Given the description of an element on the screen output the (x, y) to click on. 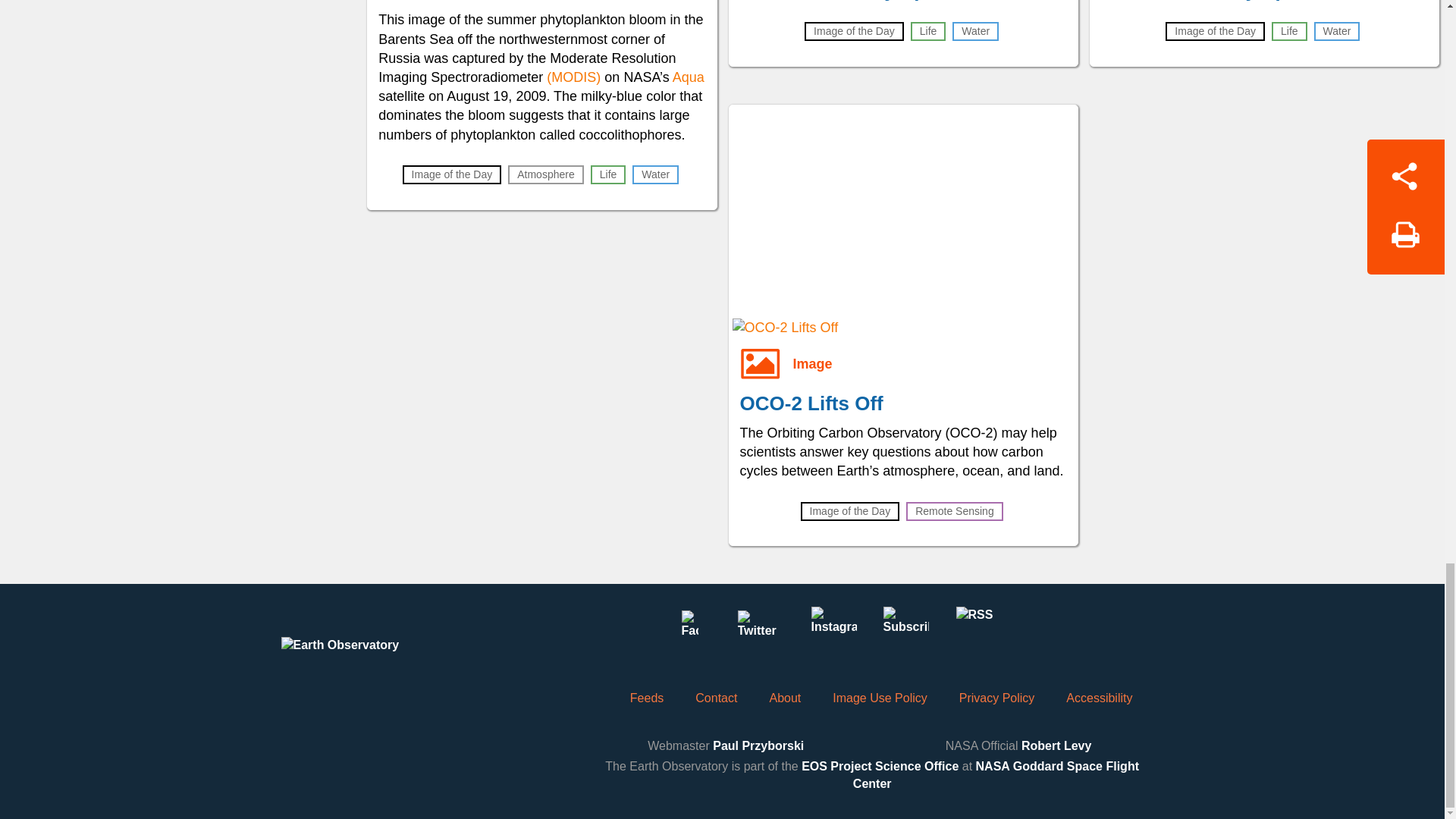
RSS (977, 629)
Instagram (833, 629)
Twitter (761, 629)
Subscribe (905, 629)
Earth Observatory (369, 659)
Facebook (689, 629)
